Given the description of an element on the screen output the (x, y) to click on. 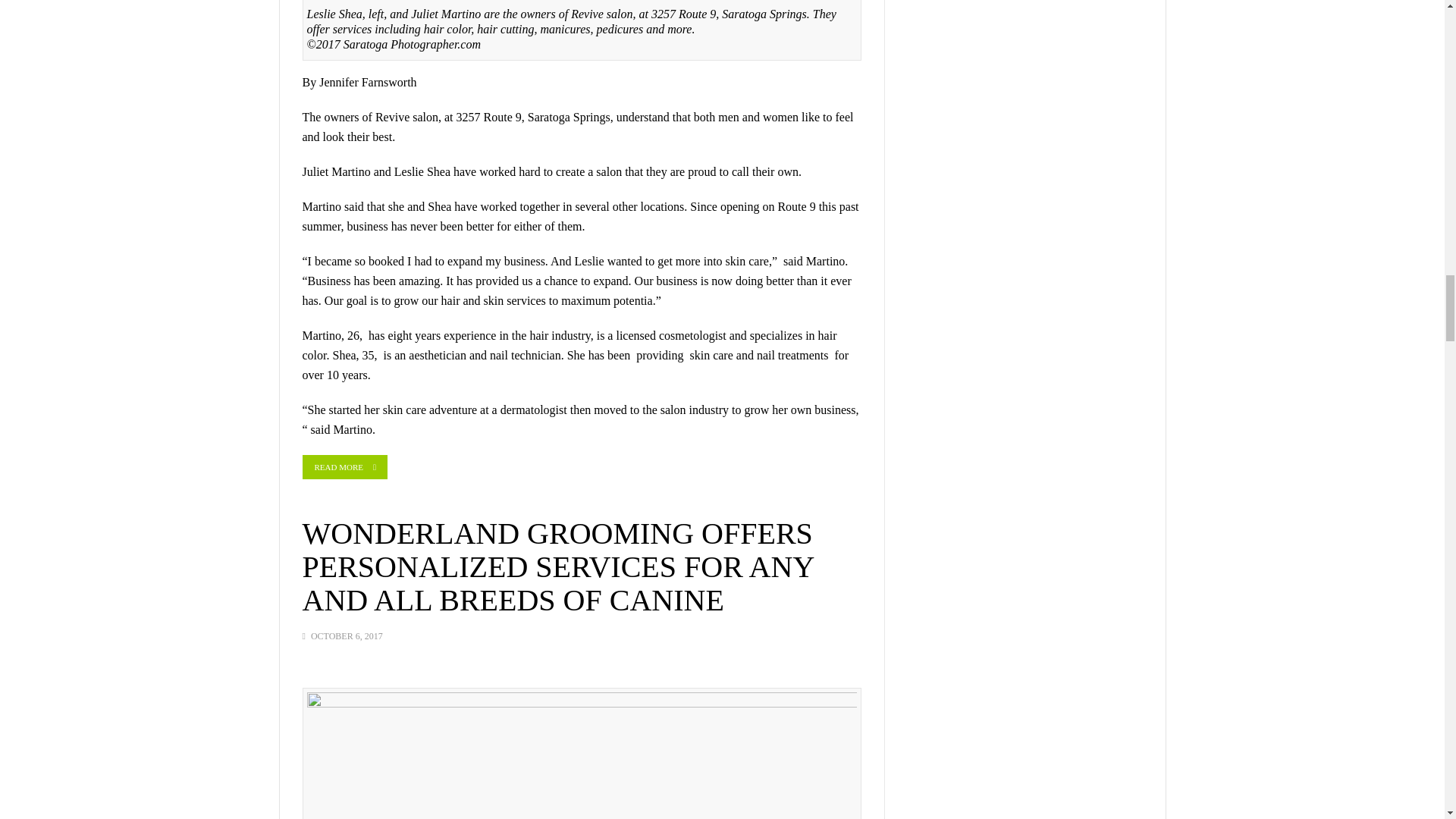
OCTOBER 6, 2017 (346, 635)
READ MORE (344, 467)
